Given the description of an element on the screen output the (x, y) to click on. 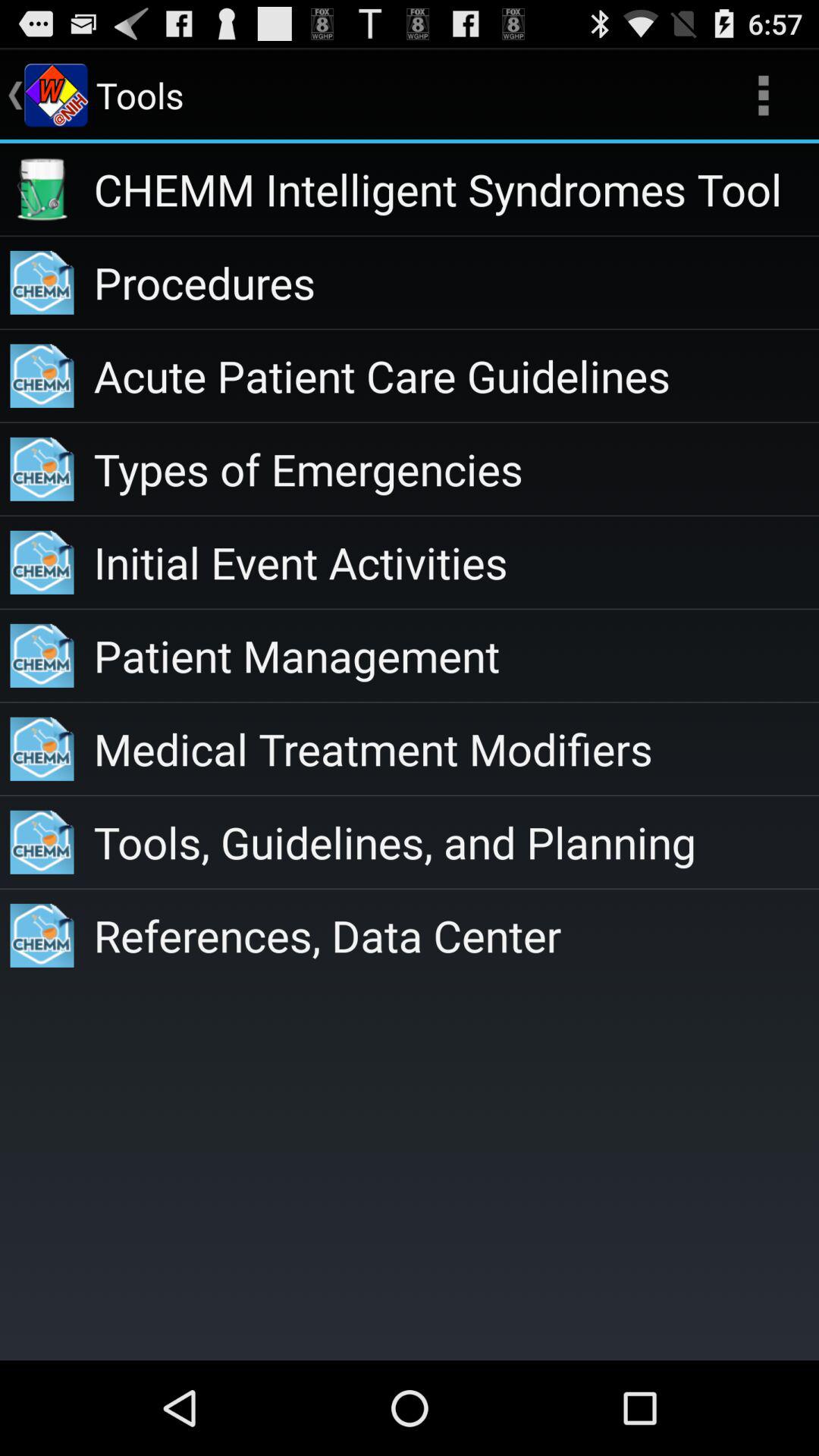
open icon above the initial event activities (456, 469)
